Given the description of an element on the screen output the (x, y) to click on. 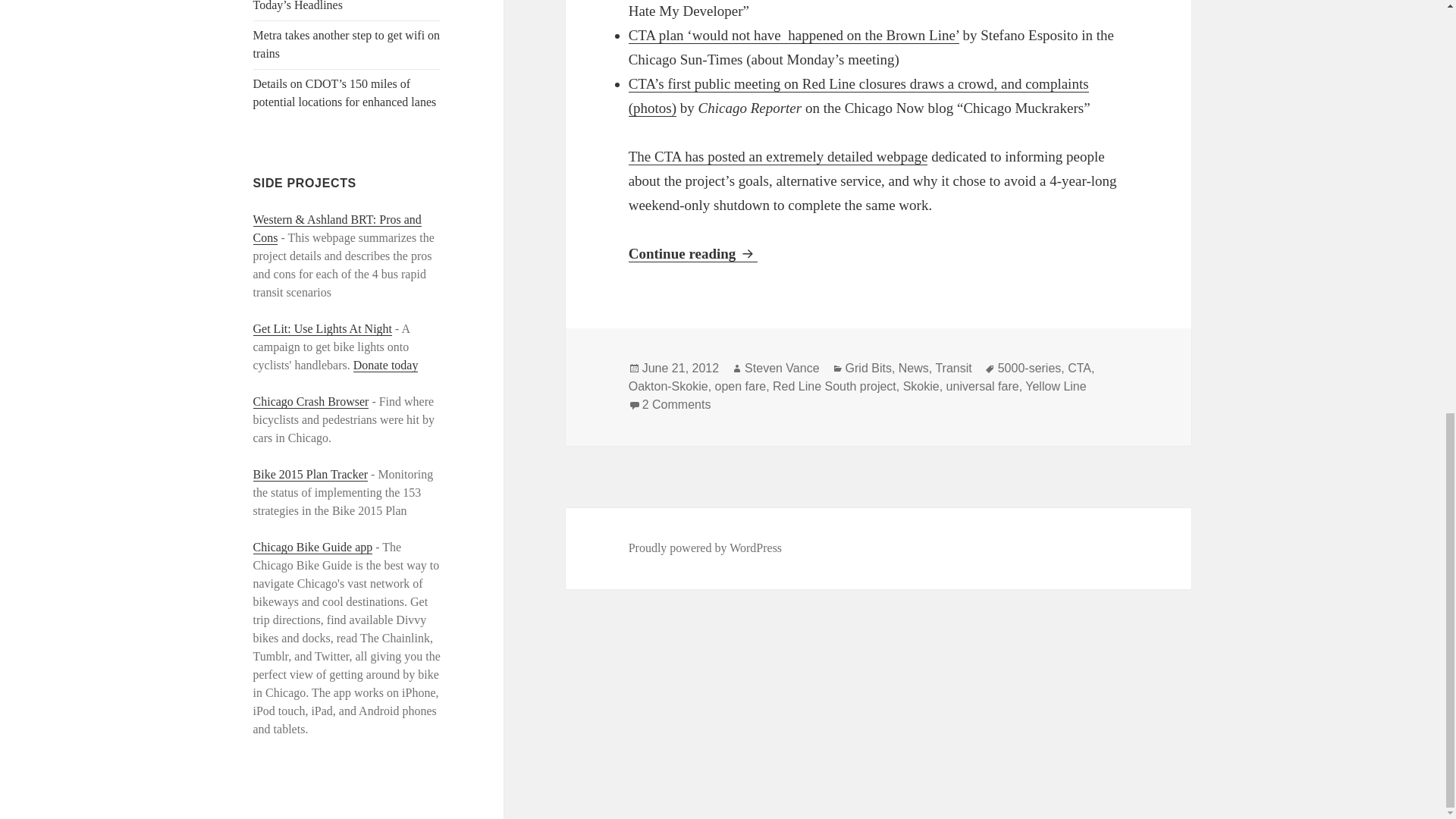
Chicago Crash Browser (311, 401)
Red Line South project (834, 386)
5000-series (1029, 368)
Get Lit: Use Lights At Night (323, 328)
open fare (740, 386)
CTA (1078, 368)
News (913, 368)
Chicago Bike Guide app (312, 547)
Transit (952, 368)
Bike 2015 Plan Tracker (310, 474)
Steven Vance (781, 368)
Metra takes another step to get wifi on trains (347, 43)
Skokie (920, 386)
Grid Bits (868, 368)
